Given the description of an element on the screen output the (x, y) to click on. 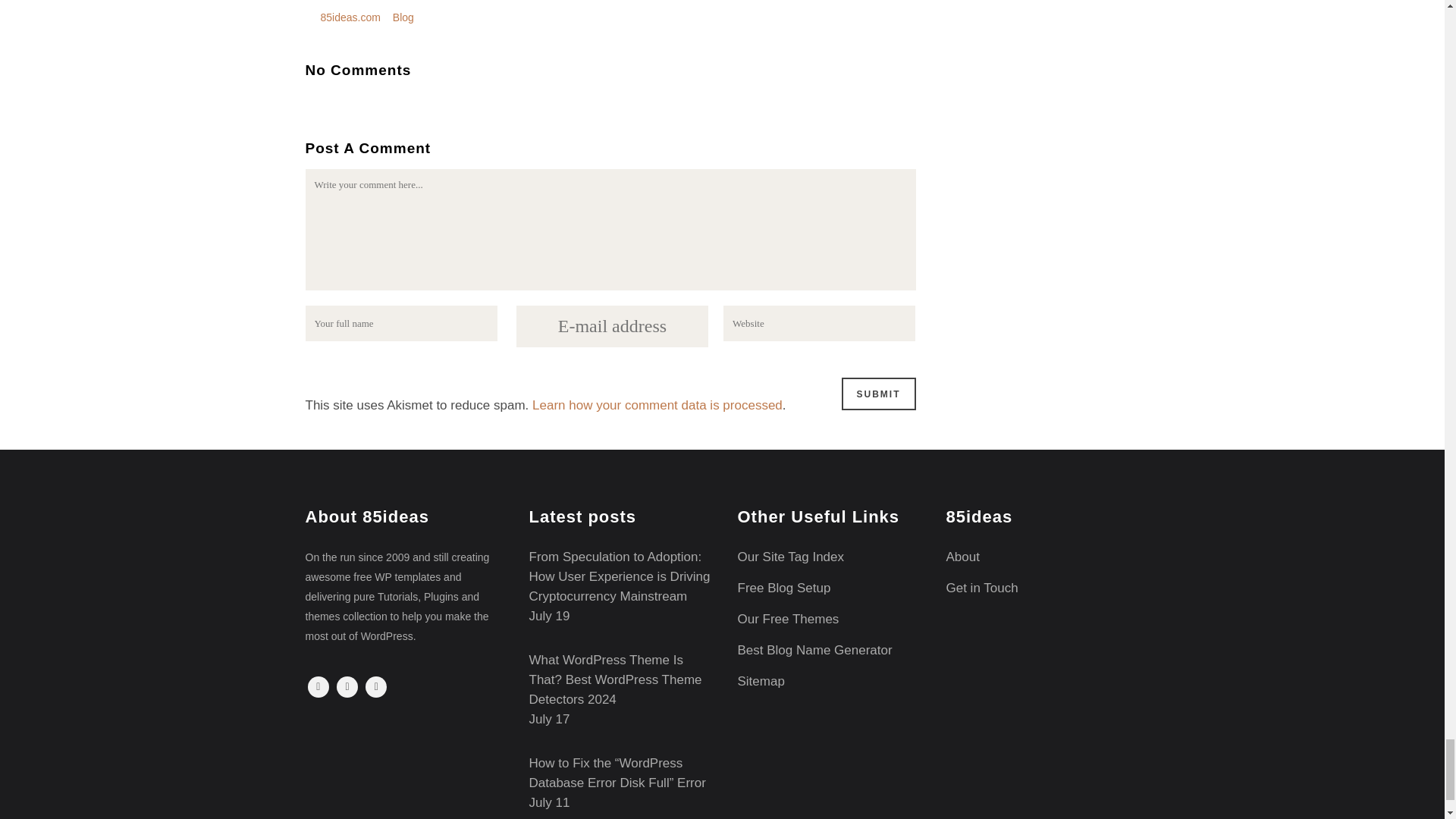
Submit (878, 393)
